Given the description of an element on the screen output the (x, y) to click on. 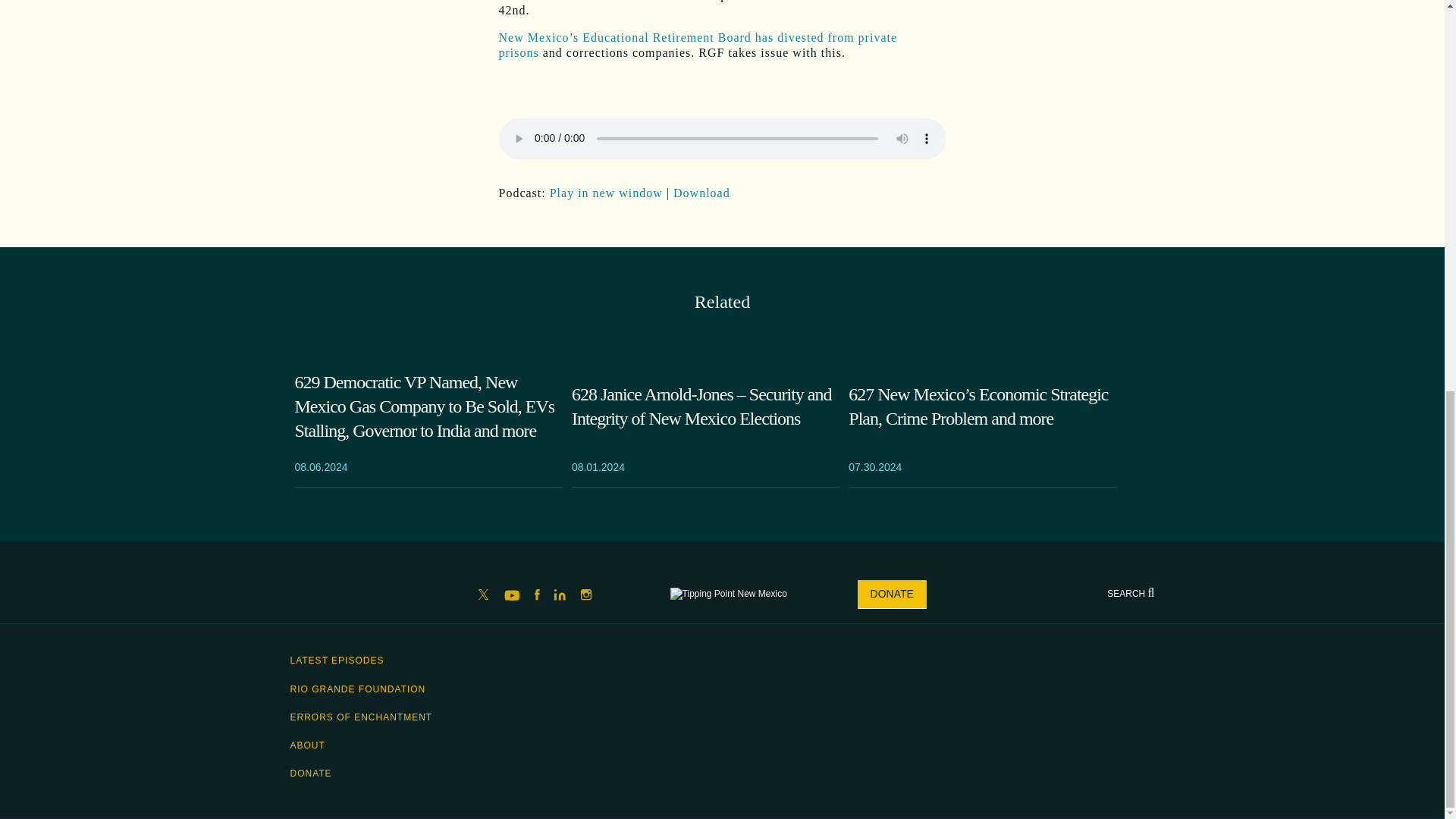
SEARCH (1130, 593)
Play in new window (606, 192)
Play in new window (606, 192)
Download (701, 192)
Download (701, 192)
DONATE (891, 594)
